Given the description of an element on the screen output the (x, y) to click on. 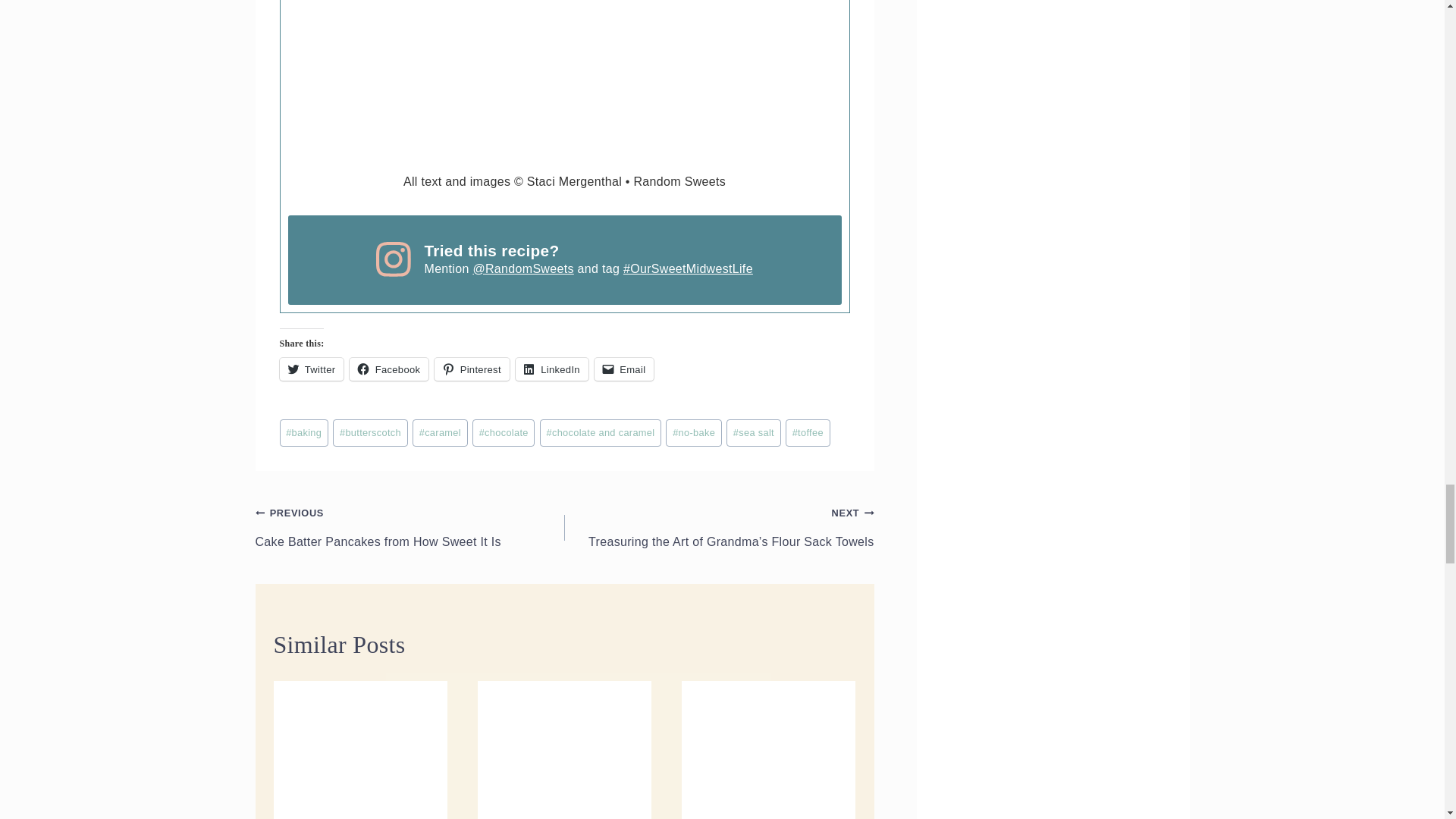
butterscotch (370, 433)
chocolate (502, 433)
Click to share on LinkedIn (551, 368)
no-bake (692, 433)
Click to share on Pinterest (471, 368)
baking (303, 433)
caramel (439, 433)
toffee (807, 433)
Click to email a link to a friend (623, 368)
sea salt (753, 433)
Click to share on Twitter (311, 368)
chocolate and caramel (600, 433)
Click to share on Facebook (388, 368)
